Given the description of an element on the screen output the (x, y) to click on. 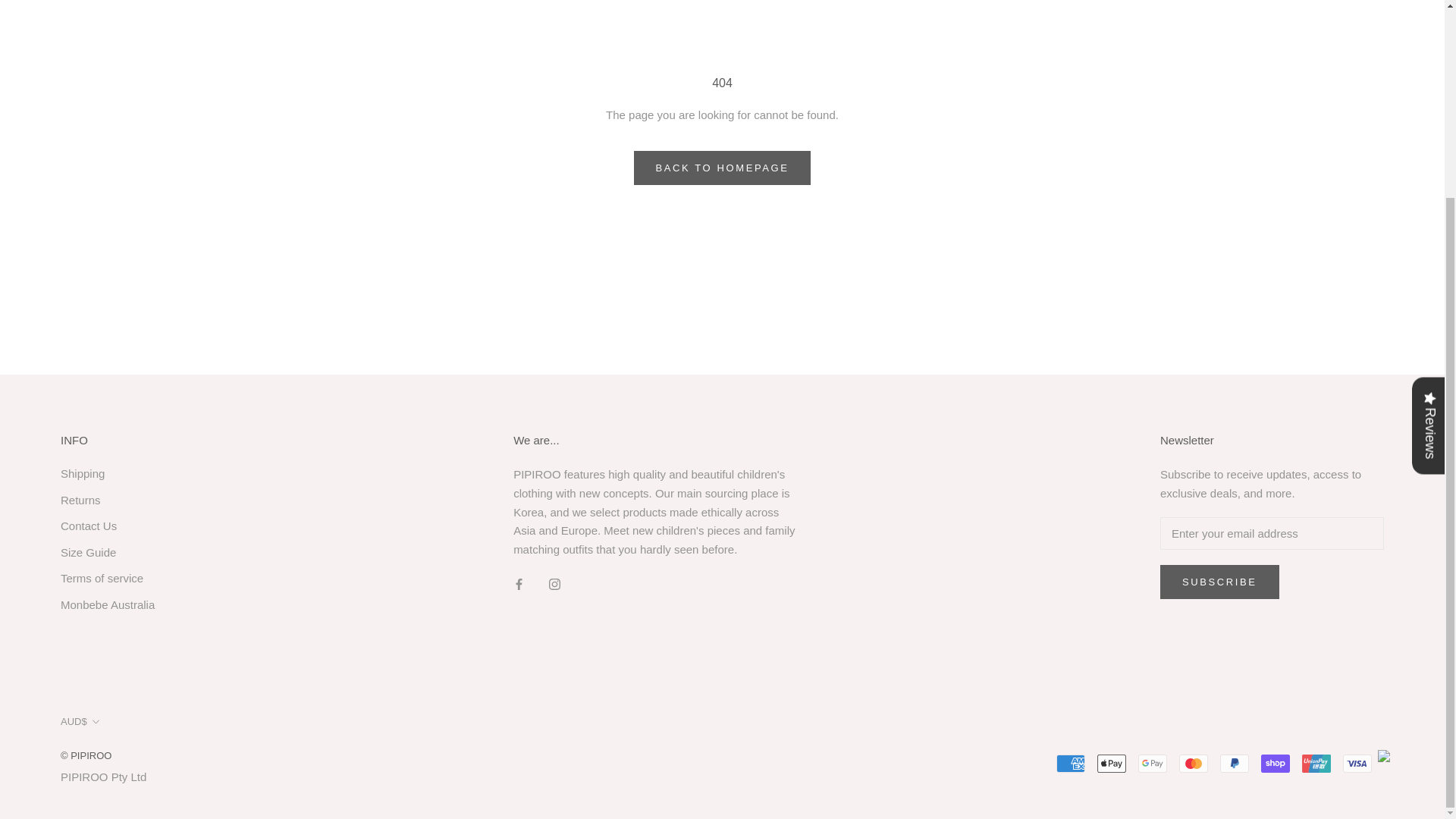
Shop Pay (1275, 763)
Apple Pay (1111, 763)
Google Pay (1152, 763)
Union Pay (1315, 763)
Mastercard (1193, 763)
Visa (1356, 763)
PayPal (1234, 763)
American Express (1070, 763)
